Given the description of an element on the screen output the (x, y) to click on. 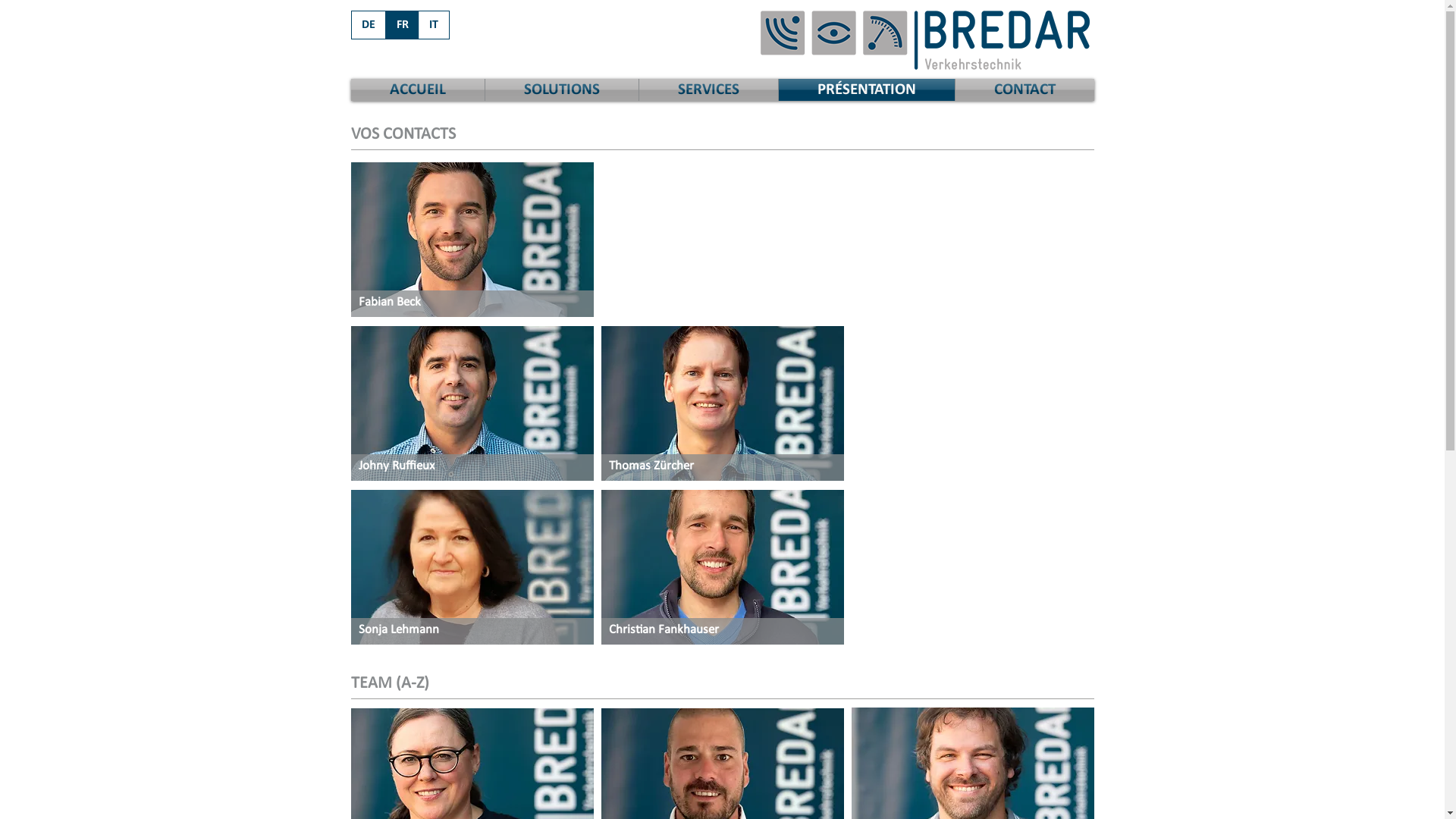
IT Element type: text (433, 24)
DE Element type: text (368, 24)
SOLUTIONS Element type: text (561, 89)
CONTACT Element type: text (1024, 89)
SERVICES Element type: text (707, 89)
FR Element type: text (401, 24)
ACCUEIL Element type: text (416, 89)
